Given the description of an element on the screen output the (x, y) to click on. 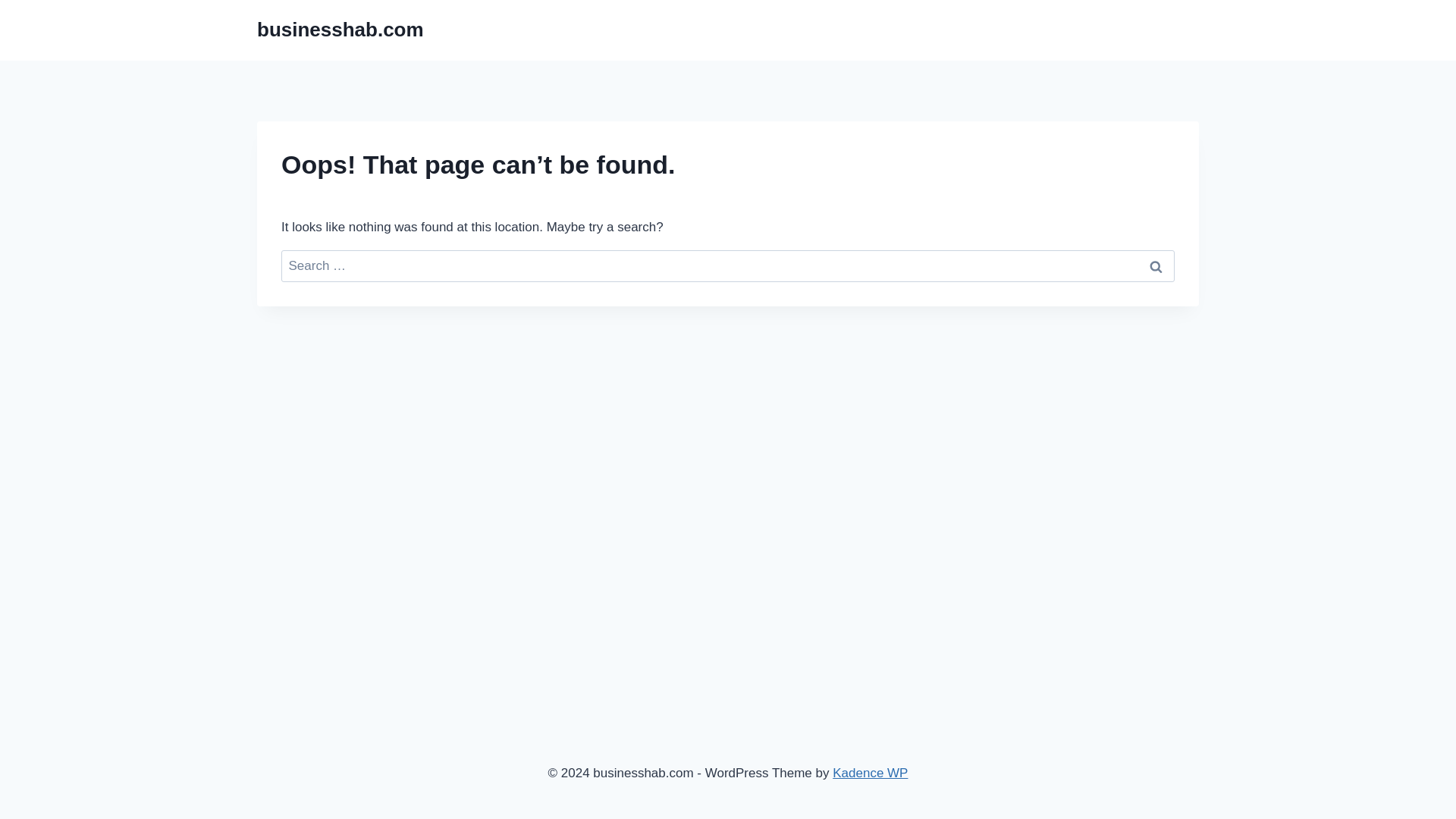
Search (1155, 266)
businesshab.com (340, 29)
Kadence WP (869, 772)
Search (1155, 266)
Search (1155, 266)
